Given the description of an element on the screen output the (x, y) to click on. 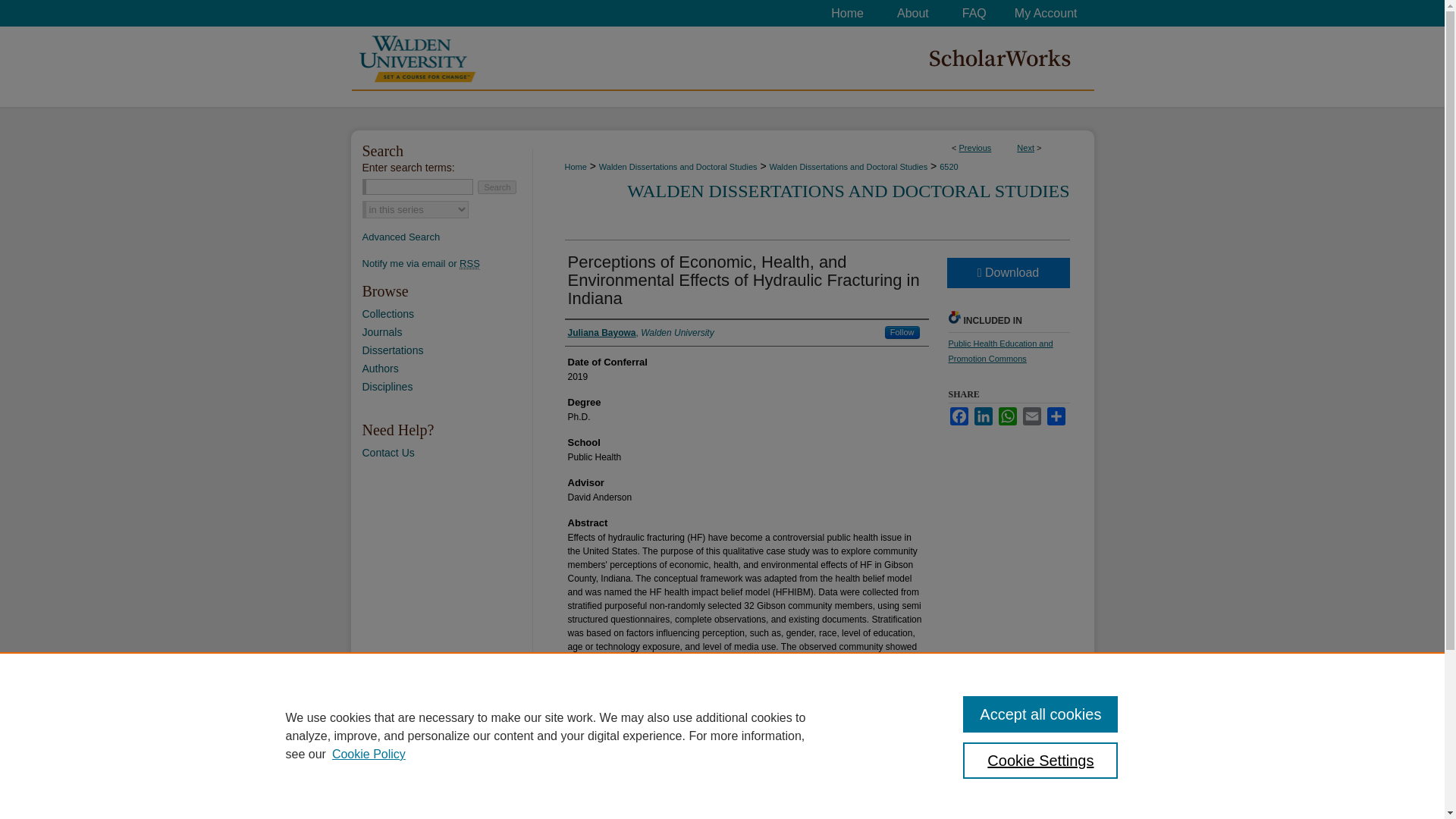
Facebook (958, 416)
Email (1031, 416)
Juliana Bayowa, Walden University (640, 332)
Public Health Education and Promotion Commons (999, 351)
Collections (447, 313)
Download (1007, 272)
Walden Dissertations and Doctoral Studies (677, 166)
Search (496, 187)
Share (1055, 416)
LinkedIn (982, 416)
Walden Dissertations and Doctoral Studies (847, 166)
My Account (1048, 13)
FAQ (973, 13)
Search (496, 187)
Search (496, 187)
